Given the description of an element on the screen output the (x, y) to click on. 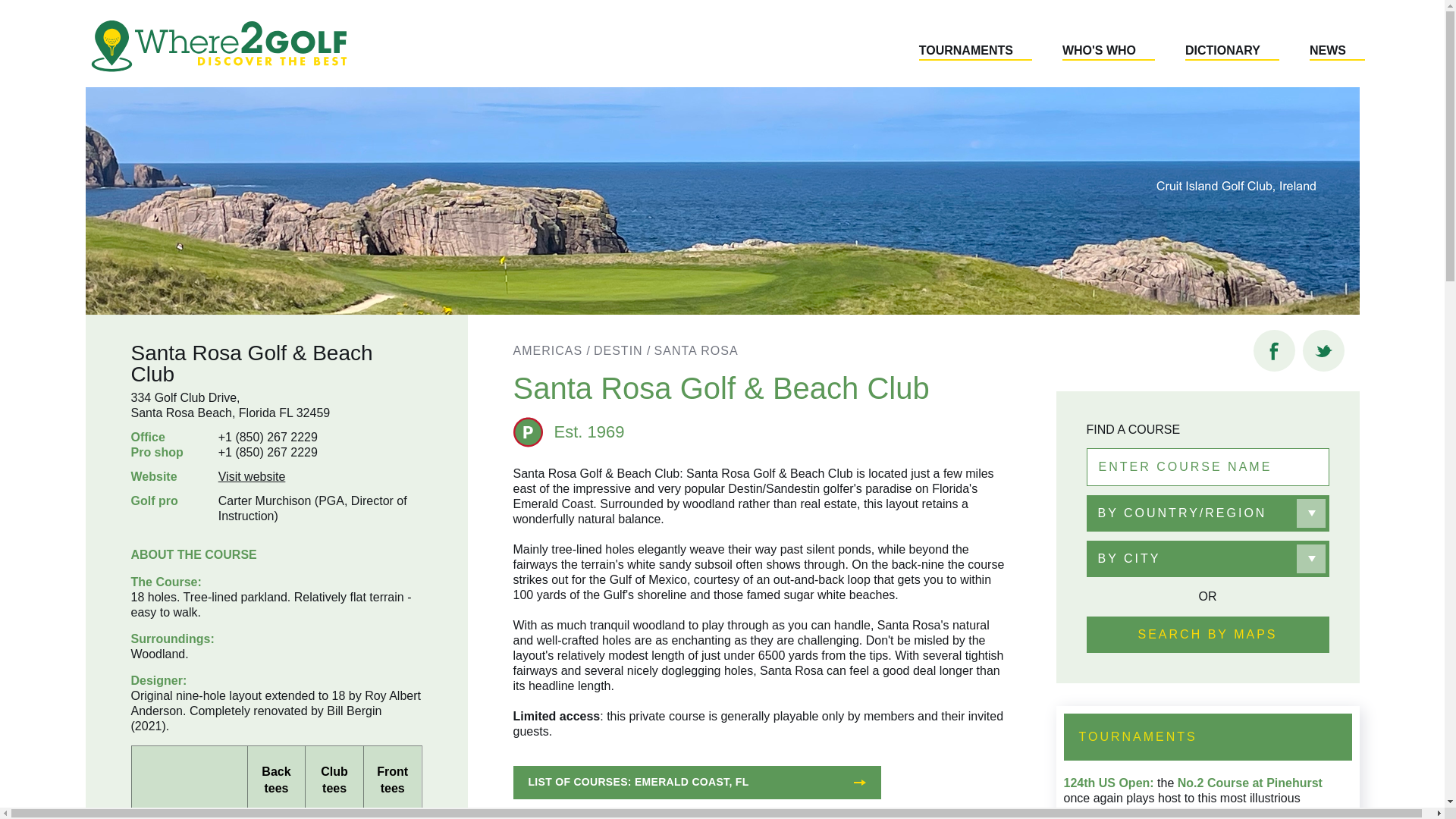
Visit website (251, 476)
DICTIONARY (1232, 52)
BY CITY (1206, 558)
TOURNAMENTS (975, 52)
WHO'S WHO (1108, 52)
LIST OF COURSES: EMERALD COAST, FL (696, 782)
NEWS (1336, 52)
MAP OF COURSES: EMERALD COAST, FL (696, 816)
